Given the description of an element on the screen output the (x, y) to click on. 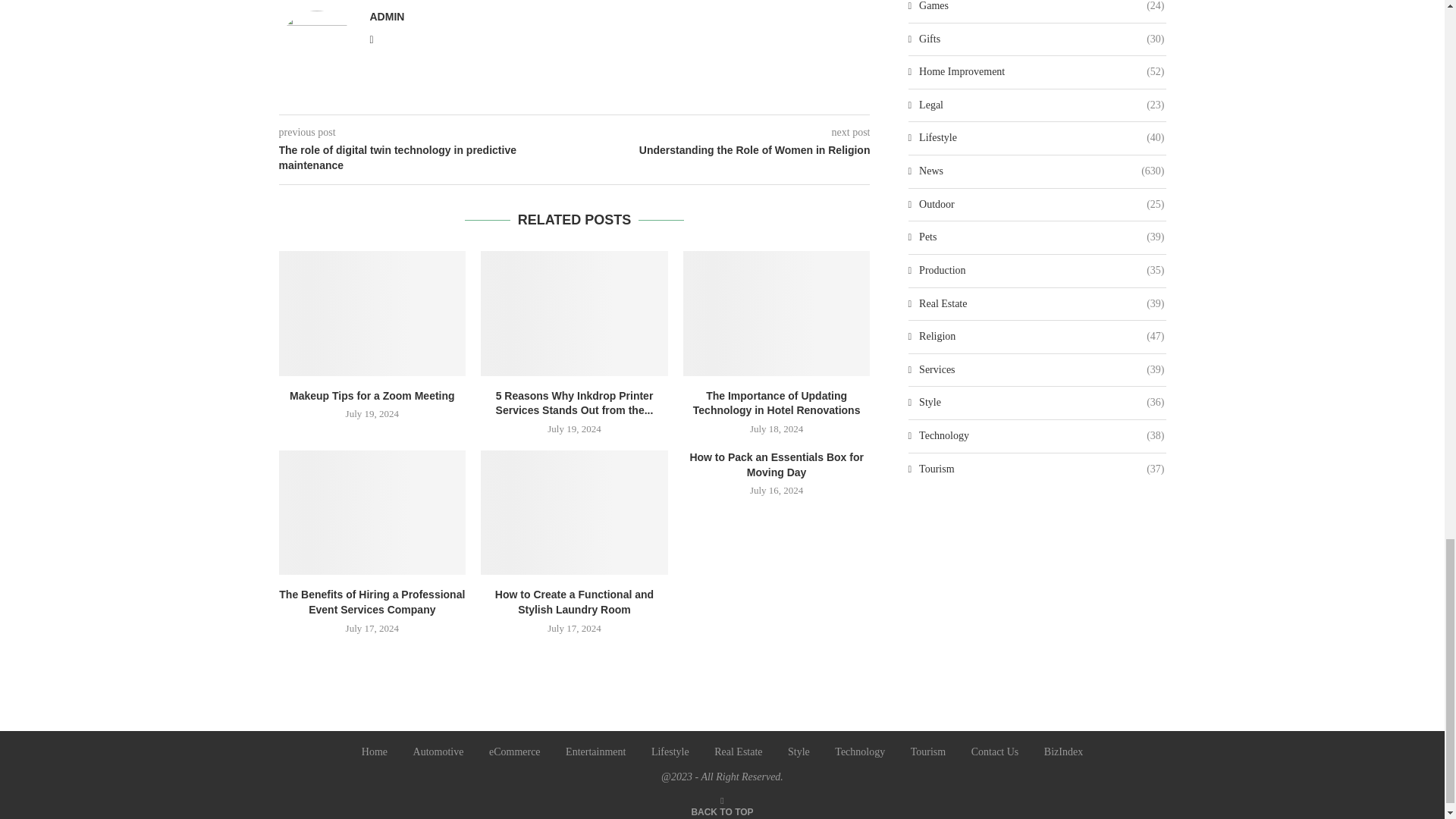
How to Create a Functional and Stylish Laundry Room (574, 512)
The Importance of Updating Technology in Hotel Renovations (776, 312)
Makeup Tips for a Zoom Meeting (372, 312)
The Benefits of Hiring a Professional Event Services Company (372, 512)
Author admin (386, 16)
